Given the description of an element on the screen output the (x, y) to click on. 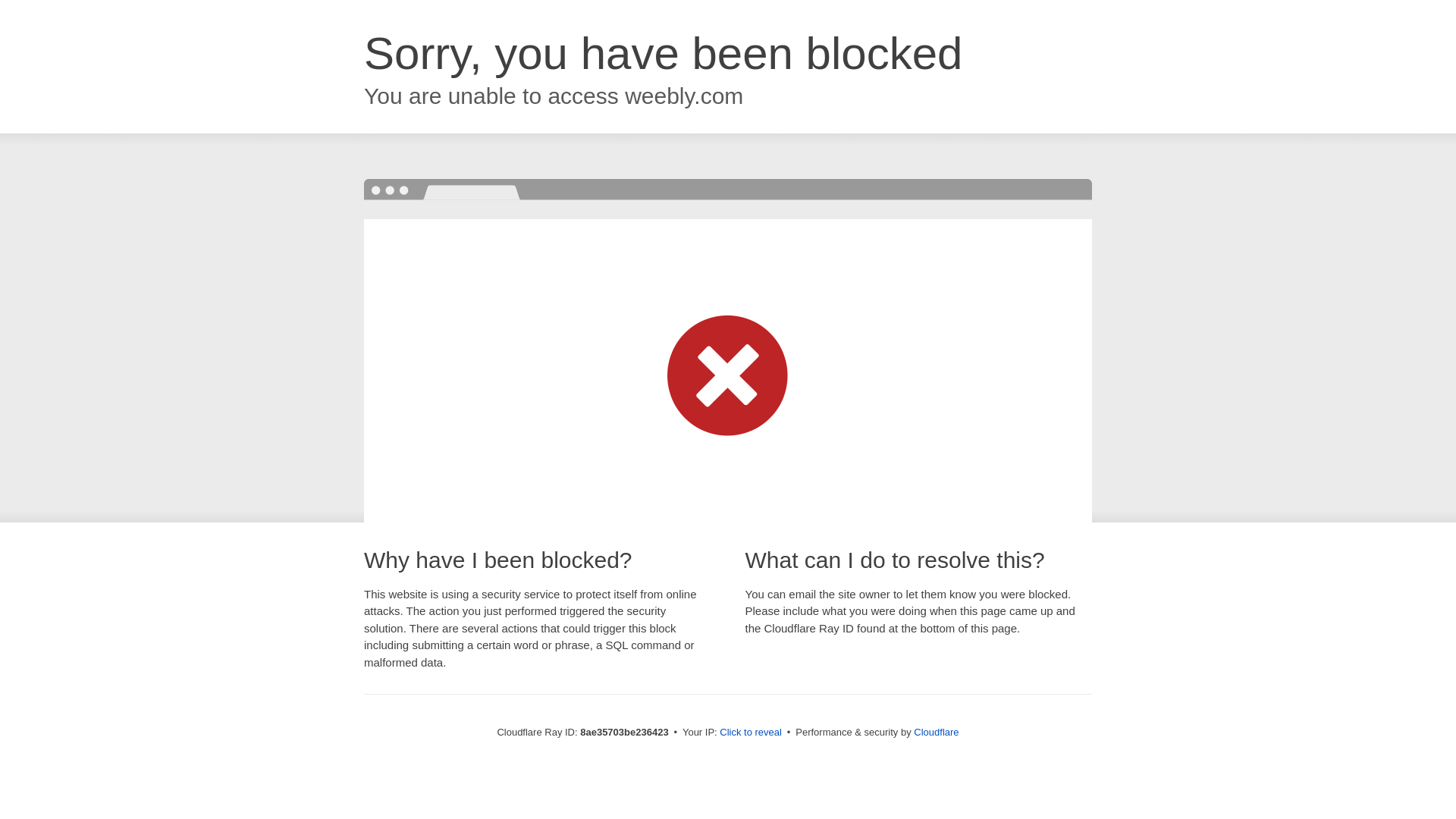
Click to reveal (750, 732)
Cloudflare (936, 731)
